Given the description of an element on the screen output the (x, y) to click on. 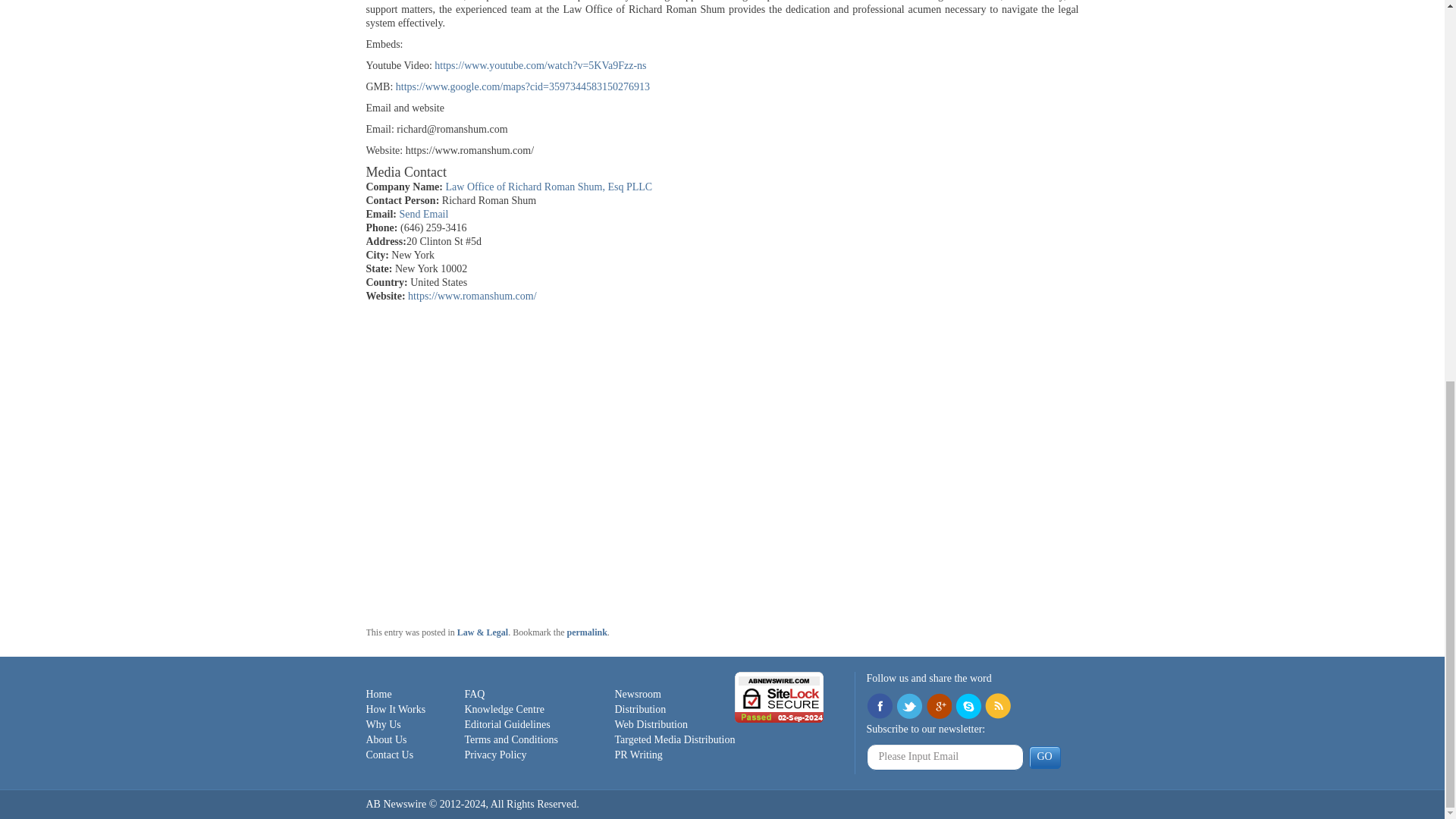
GO (1043, 757)
SiteLock (779, 696)
Please Input Email (944, 756)
